Given the description of an element on the screen output the (x, y) to click on. 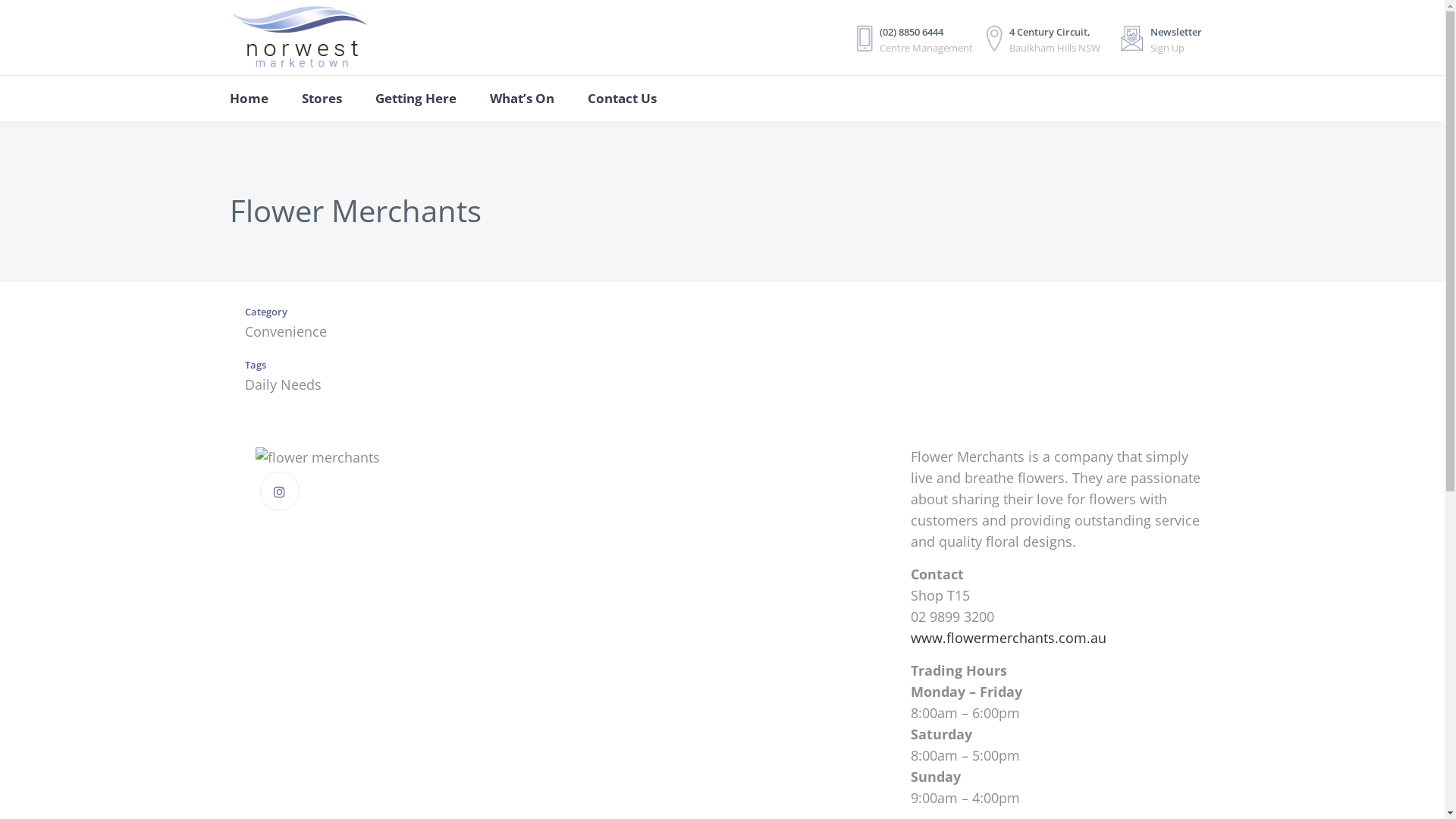
Newsletter
Sign Up Element type: text (1166, 46)
(02) 8850 6444
Centre Management Element type: text (909, 38)
Home Element type: text (256, 98)
Getting Here Element type: text (414, 98)
Contact Us Element type: text (621, 98)
www.flowermerchants.com.au Element type: text (1008, 637)
Stores Element type: text (321, 98)
4 Century Circuit,
Baulkham Hills NSW Element type: text (1044, 46)
